Given the description of an element on the screen output the (x, y) to click on. 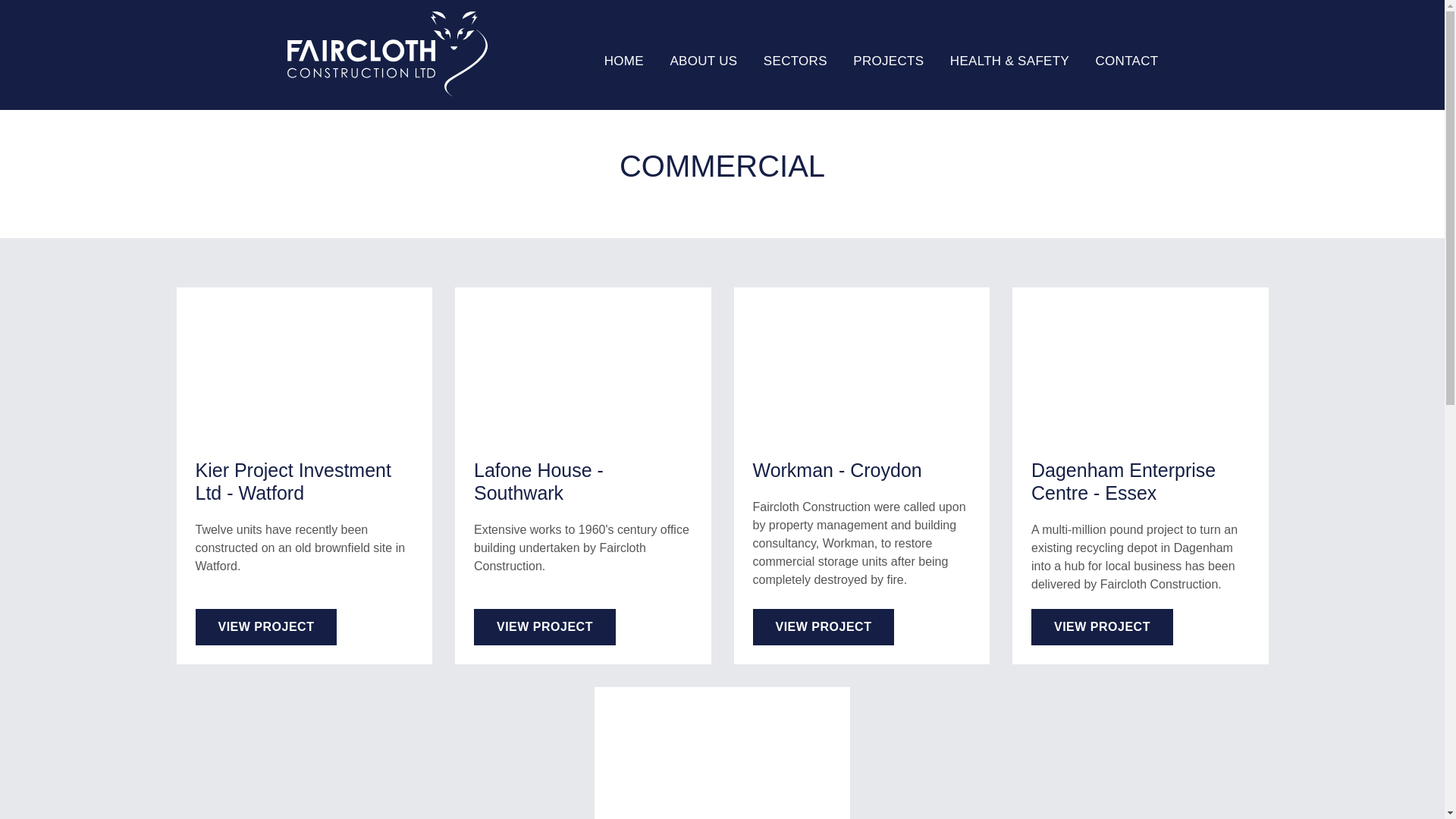
PROJECTS (888, 61)
SECTORS (794, 61)
ABOUT US (702, 61)
CONTACT (1125, 61)
HOME (614, 61)
